Given the description of an element on the screen output the (x, y) to click on. 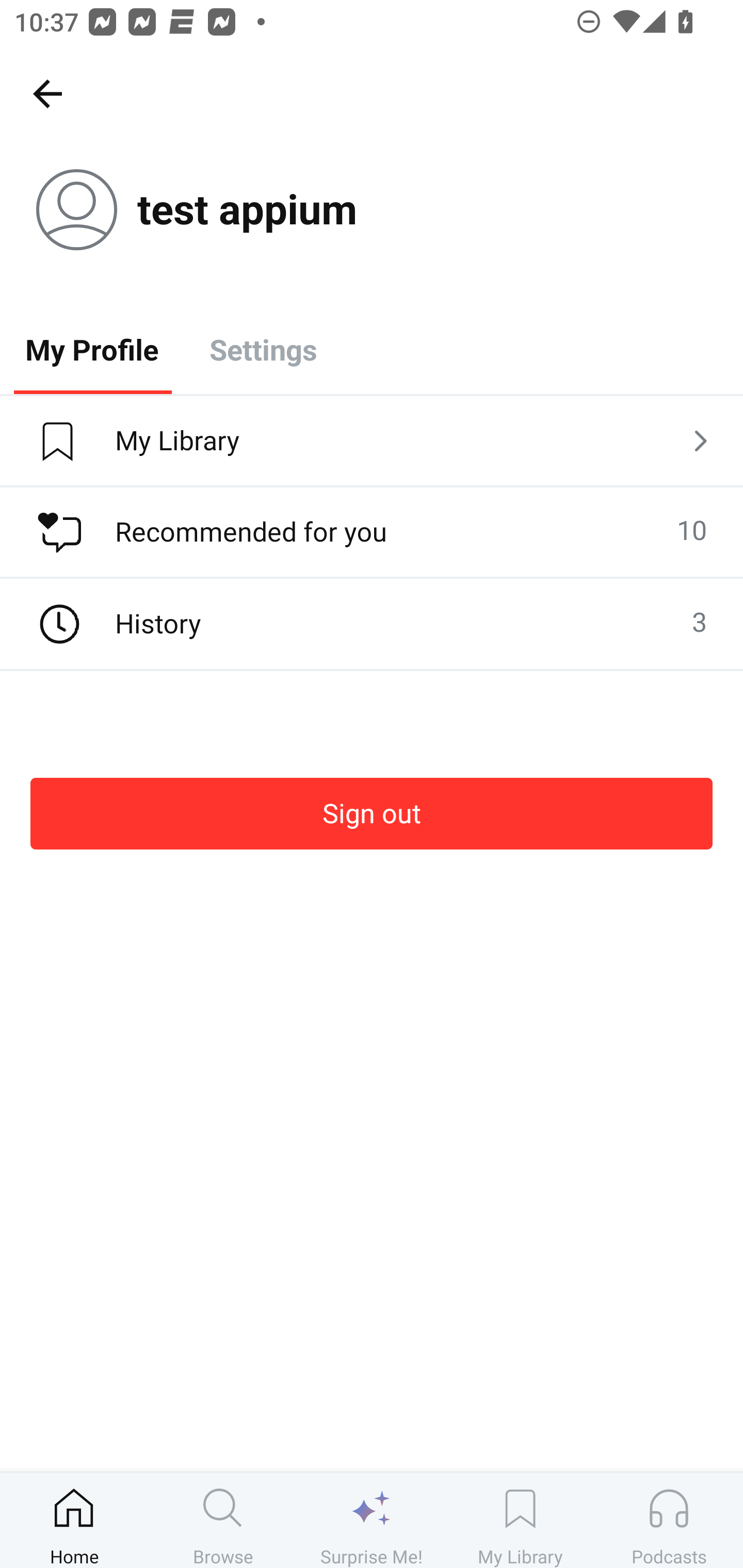
Home, back (47, 92)
My Profile (92, 348)
Settings (263, 348)
My Library (371, 441)
Recommended for you 10 (371, 532)
History 3 (371, 623)
Sign out (371, 813)
Home (74, 1520)
Browse (222, 1520)
Surprise Me! (371, 1520)
My Library (519, 1520)
Podcasts (668, 1520)
